Given the description of an element on the screen output the (x, y) to click on. 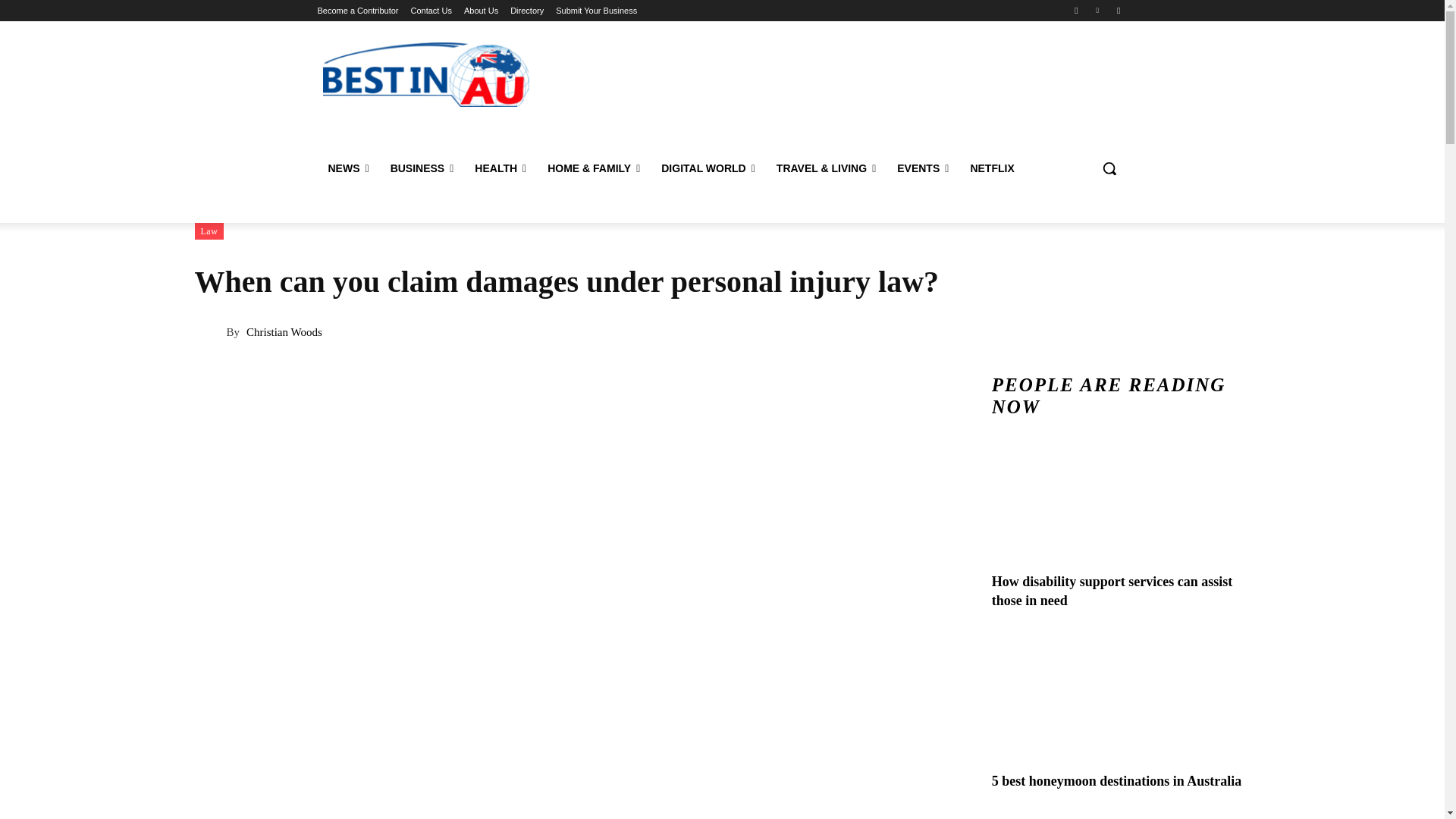
Best in Australia - The Most Researched Information (426, 74)
Linkedin (1097, 9)
Twitter (1117, 9)
Facebook (1075, 9)
Best in Australia - The Most Researched Information (425, 74)
Christian Woods (209, 332)
